Given the description of an element on the screen output the (x, y) to click on. 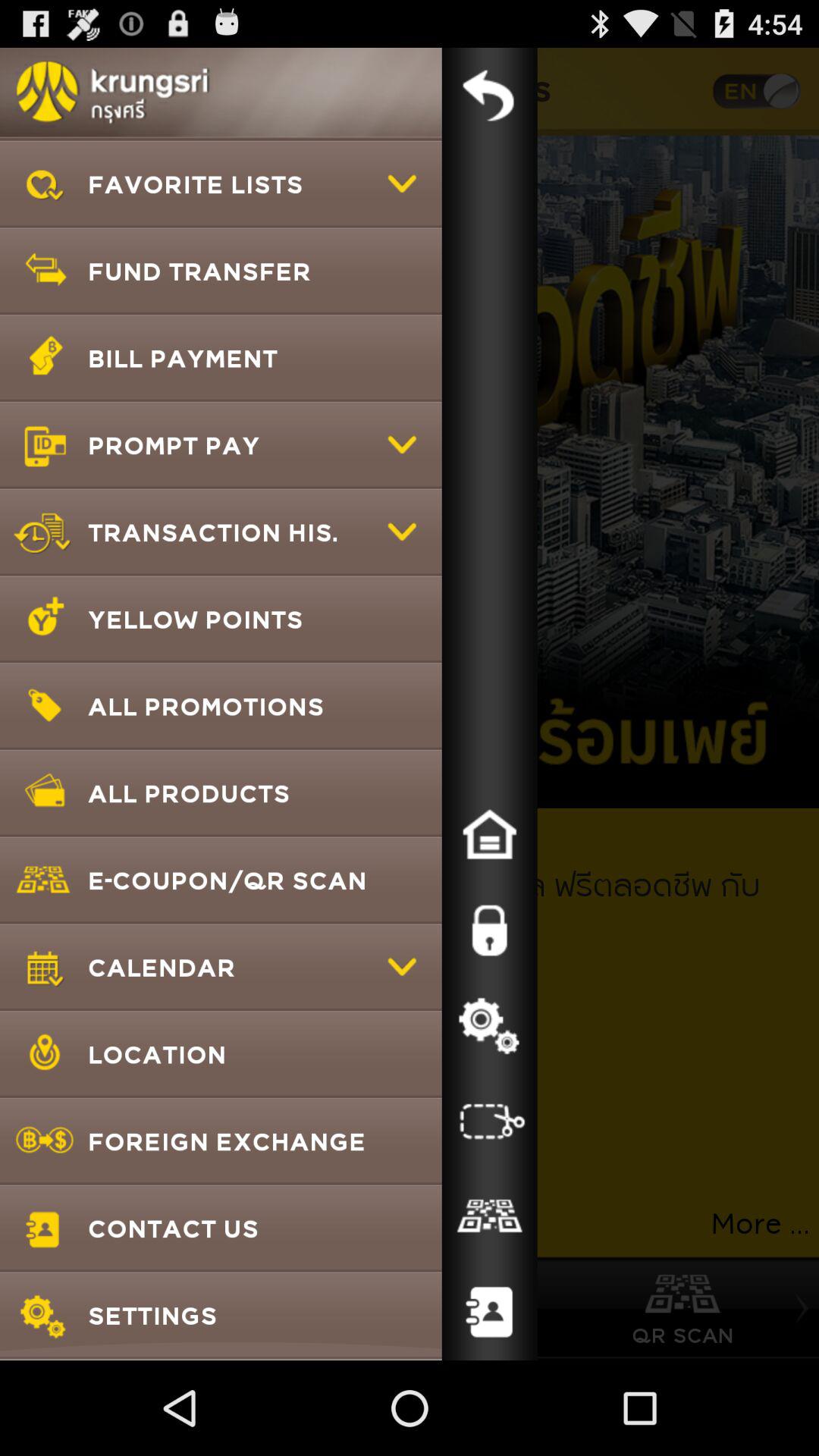
home (489, 834)
